Given the description of an element on the screen output the (x, y) to click on. 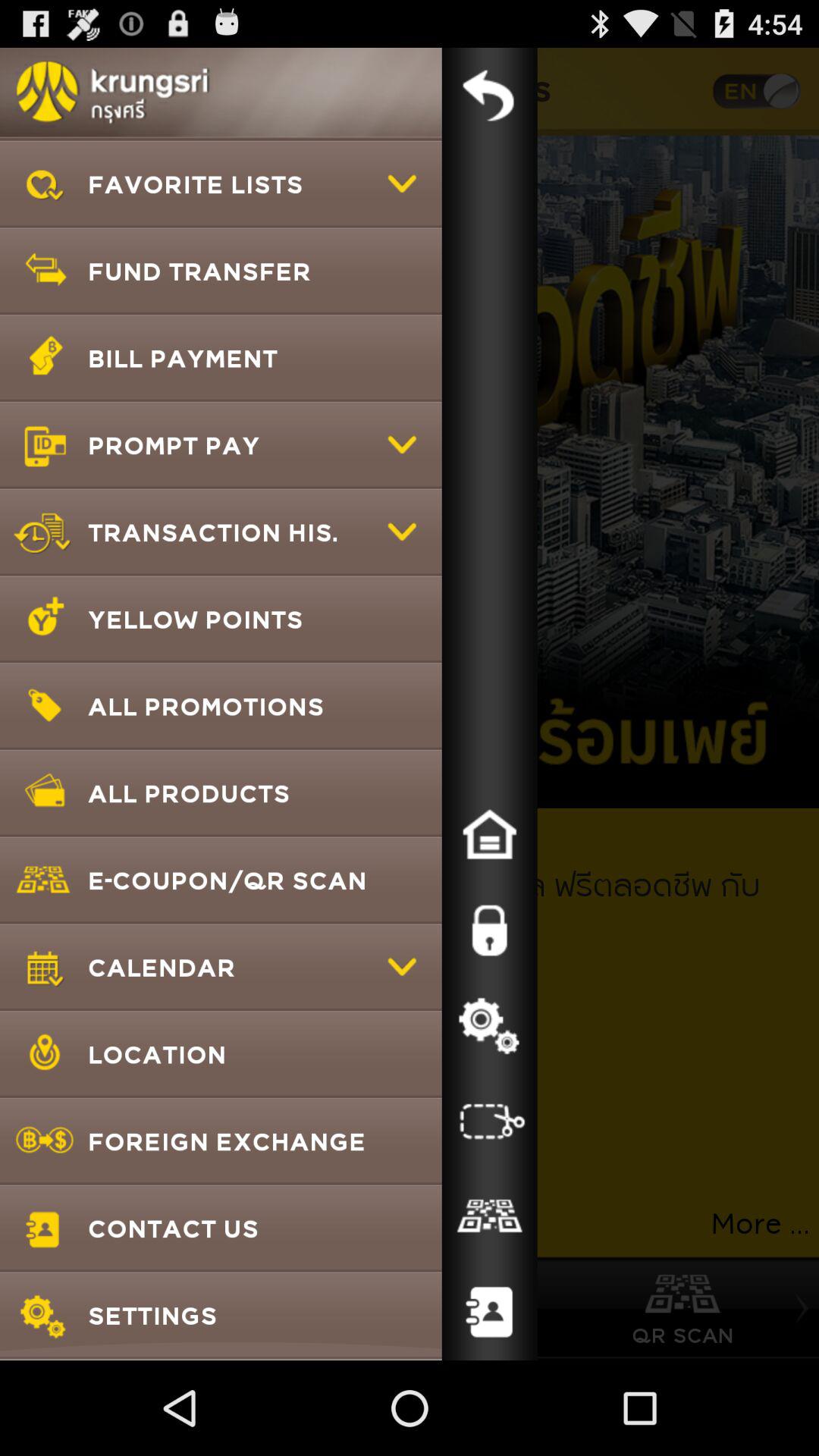
home (489, 834)
